Given the description of an element on the screen output the (x, y) to click on. 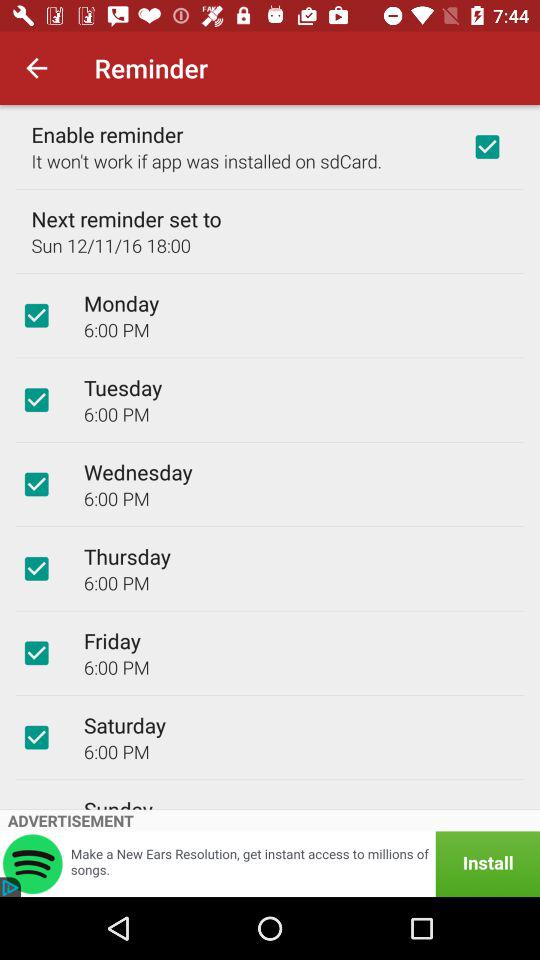
uncheck day (36, 737)
